Given the description of an element on the screen output the (x, y) to click on. 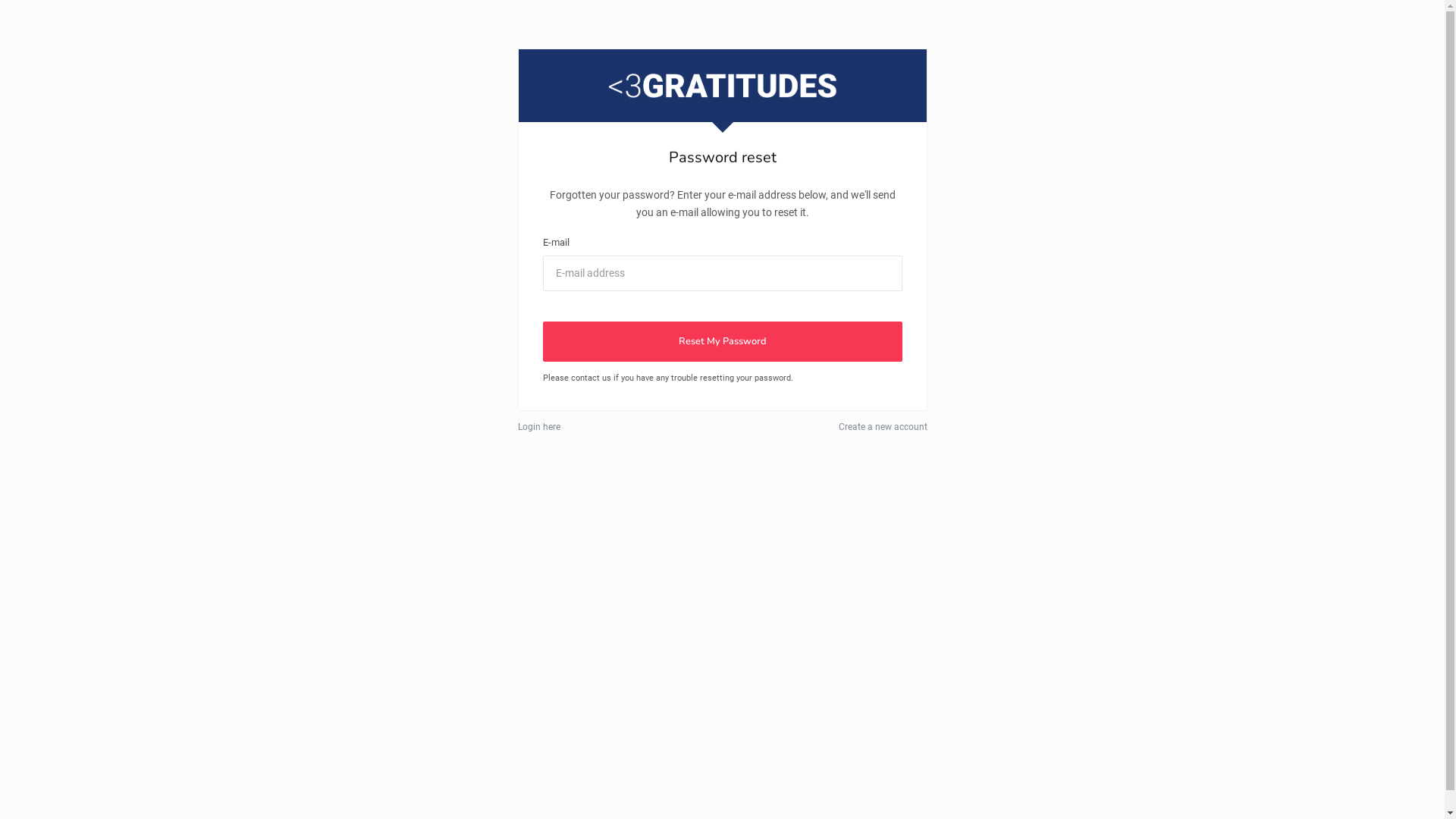
Login here Element type: text (538, 426)
Create a new account Element type: text (882, 426)
Reset My Password Element type: text (722, 341)
